Given the description of an element on the screen output the (x, y) to click on. 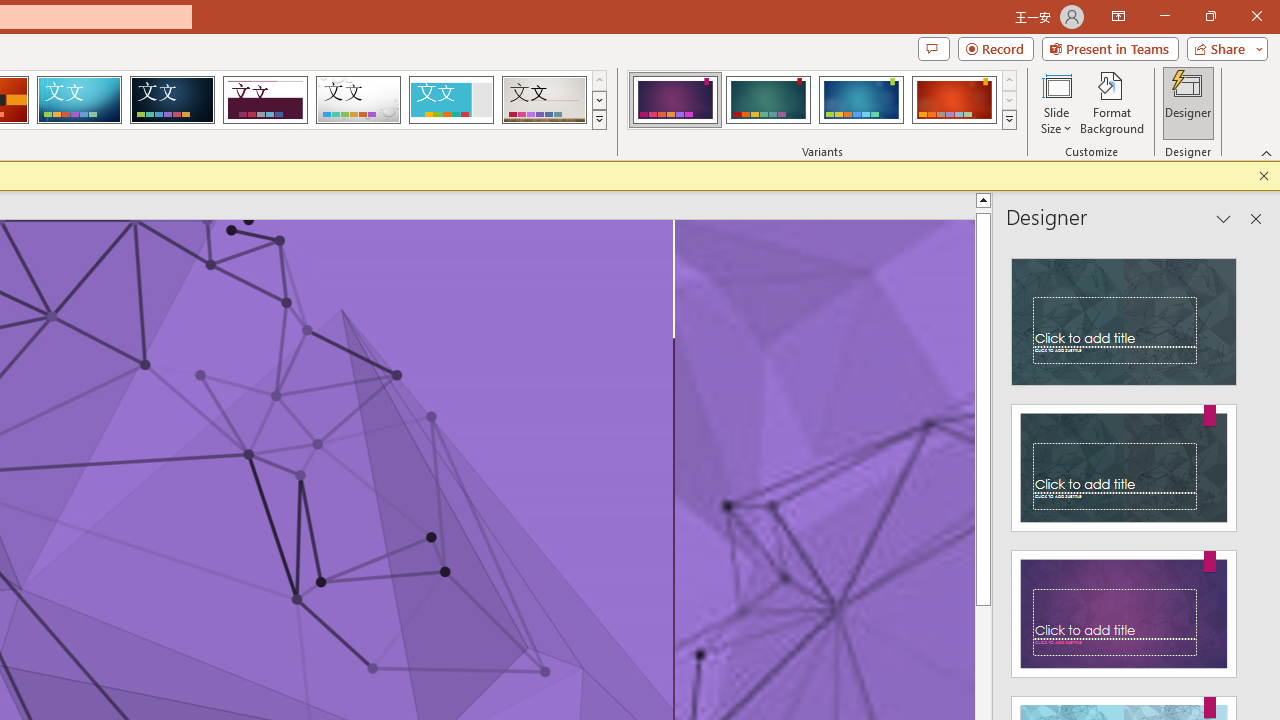
Gallery (544, 100)
